Given the description of an element on the screen output the (x, y) to click on. 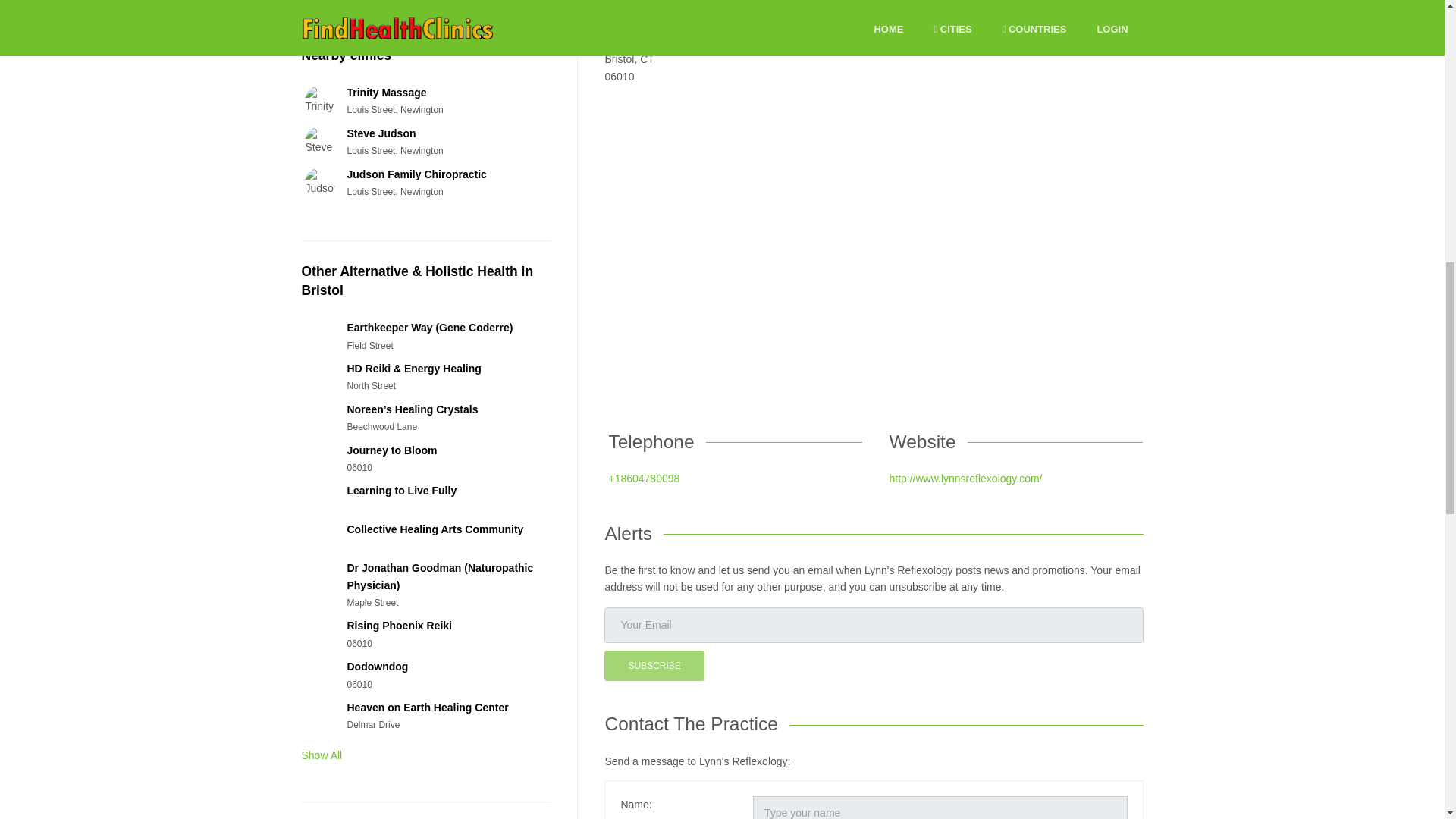
Rising Phoenix Reiki (398, 625)
Learning to Live Fully (401, 490)
Collective Healing Arts Community (434, 529)
Trinity Massage (386, 92)
Steve Judson (380, 133)
Judson Family Chiropractic (416, 174)
Journey to Bloom (391, 450)
SUBSCRIBE (653, 665)
